Given the description of an element on the screen output the (x, y) to click on. 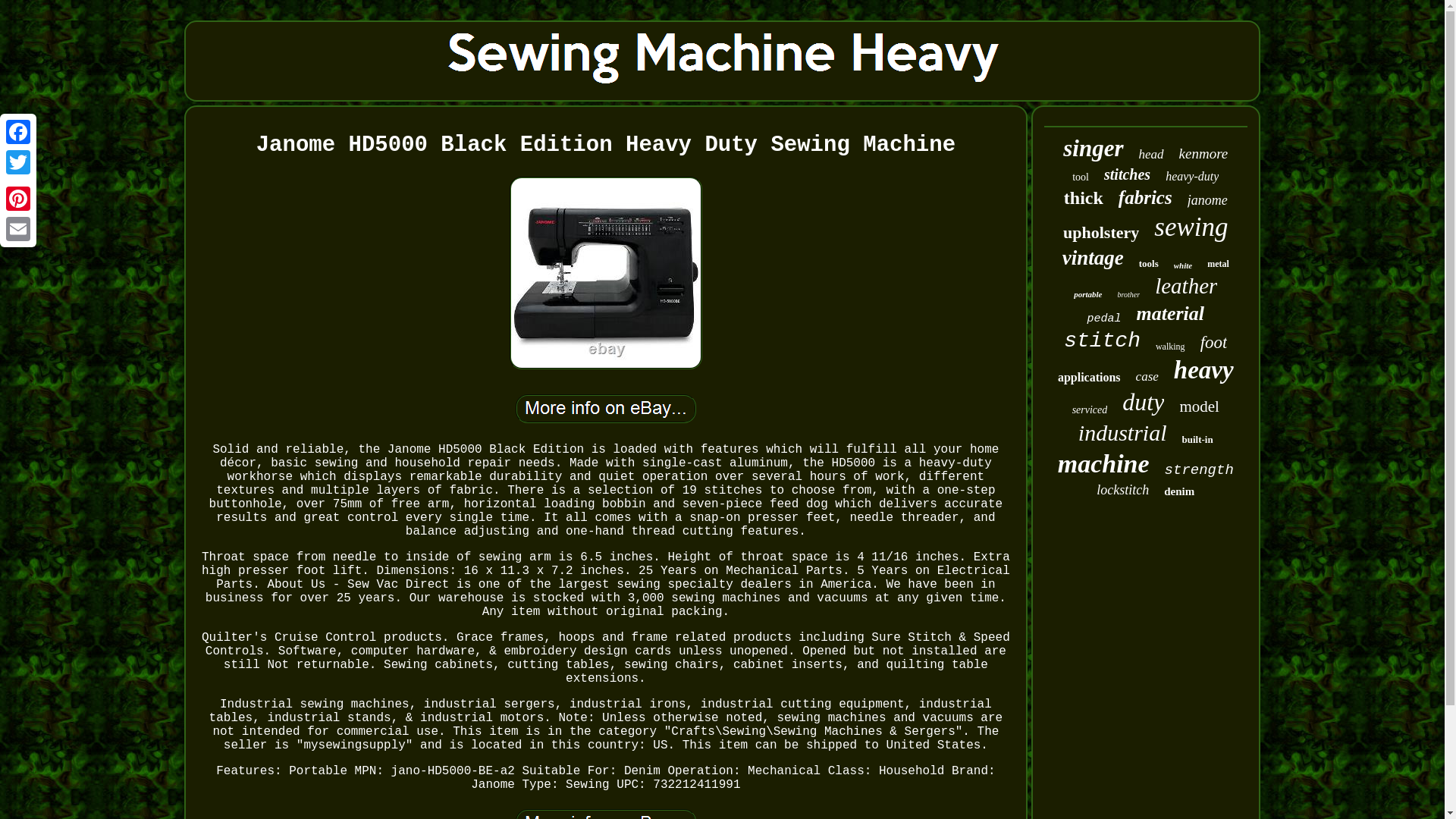
walking (1170, 346)
brother (1129, 294)
Twitter (17, 162)
singer (1092, 148)
Janome HD5000 Black Edition Heavy Duty Sewing Machine (605, 814)
janome (1207, 200)
duty (1142, 402)
portable (1088, 293)
Janome HD5000 Black Edition Heavy Duty Sewing Machine (605, 408)
case (1146, 376)
foot (1213, 342)
Pinterest (17, 198)
tools (1148, 263)
leather (1185, 285)
stitches (1126, 174)
